Given the description of an element on the screen output the (x, y) to click on. 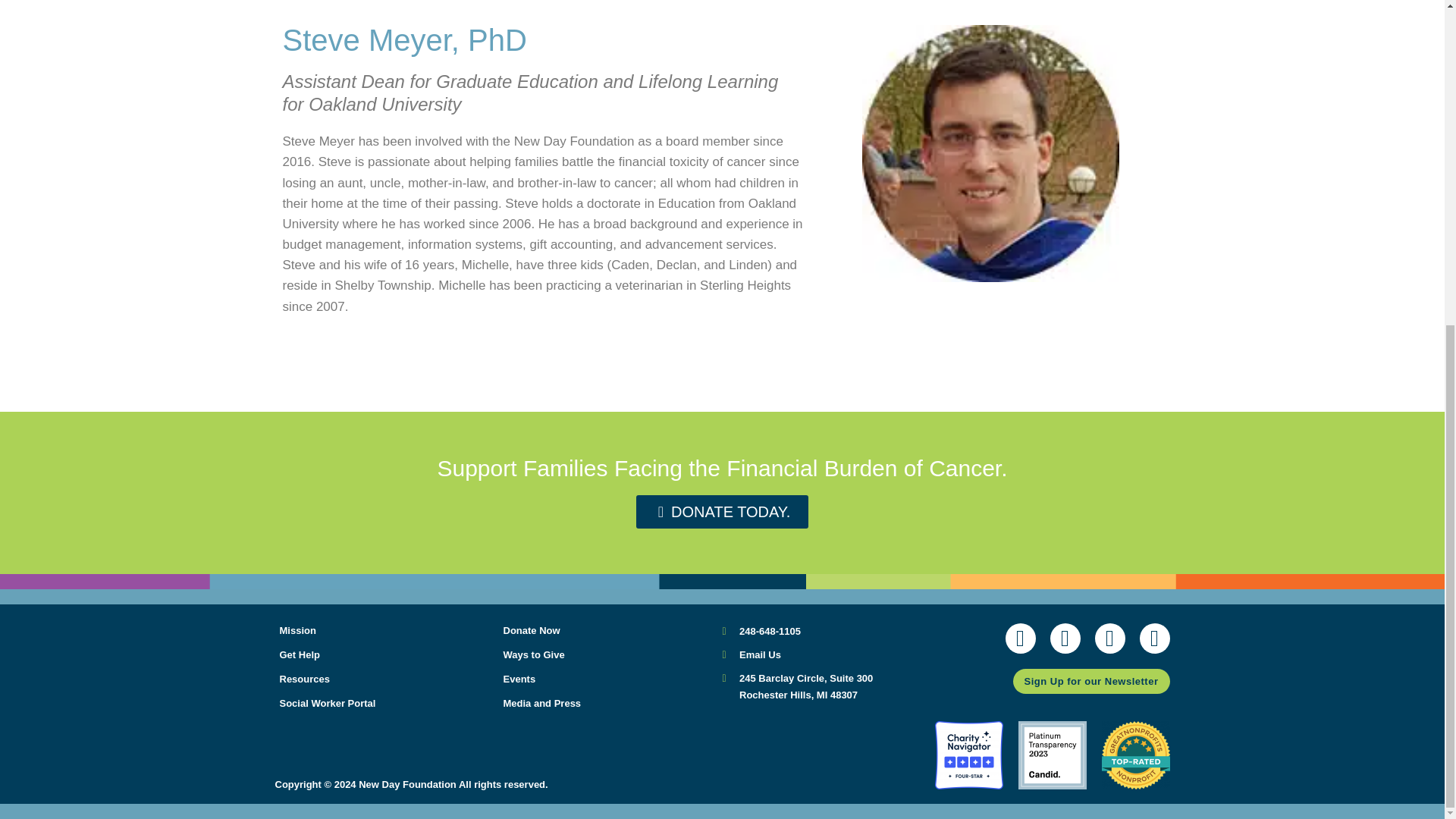
candid-seal-platinum-2023 (1051, 755)
DONATE TODAY. (722, 511)
Get Help (386, 654)
Media and Press (833, 686)
Mission (610, 703)
Resources (386, 630)
Ways to Give (386, 679)
Email Us (610, 654)
Great Nonprofits (833, 654)
Social Worker Portal (1134, 755)
Donate Now (386, 703)
Events (610, 630)
248-648-1105 (610, 679)
